Given the description of an element on the screen output the (x, y) to click on. 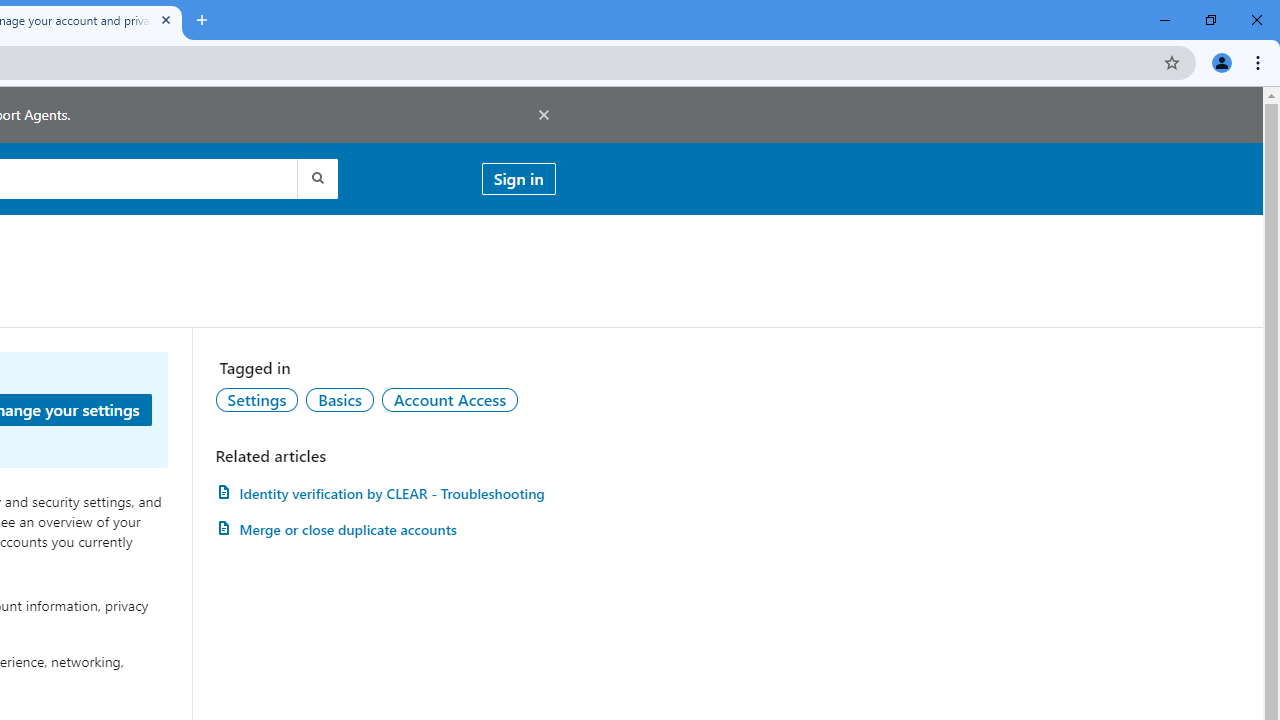
Merge or close duplicate accounts (385, 529)
Account Access (449, 399)
AutomationID: topic-link-a149001 (257, 399)
